Given the description of an element on the screen output the (x, y) to click on. 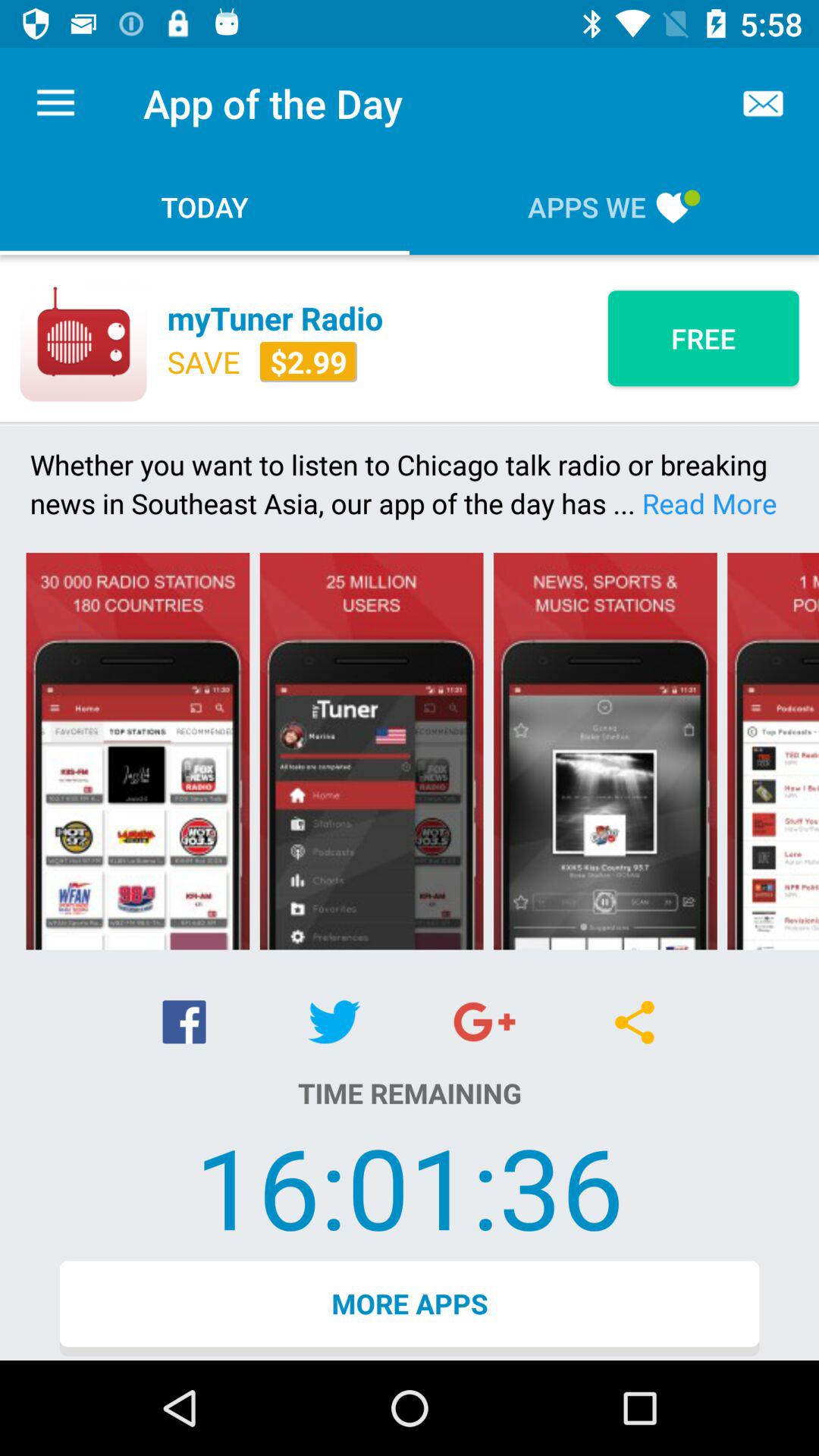
tap item at the bottom right corner (634, 1022)
